Given the description of an element on the screen output the (x, y) to click on. 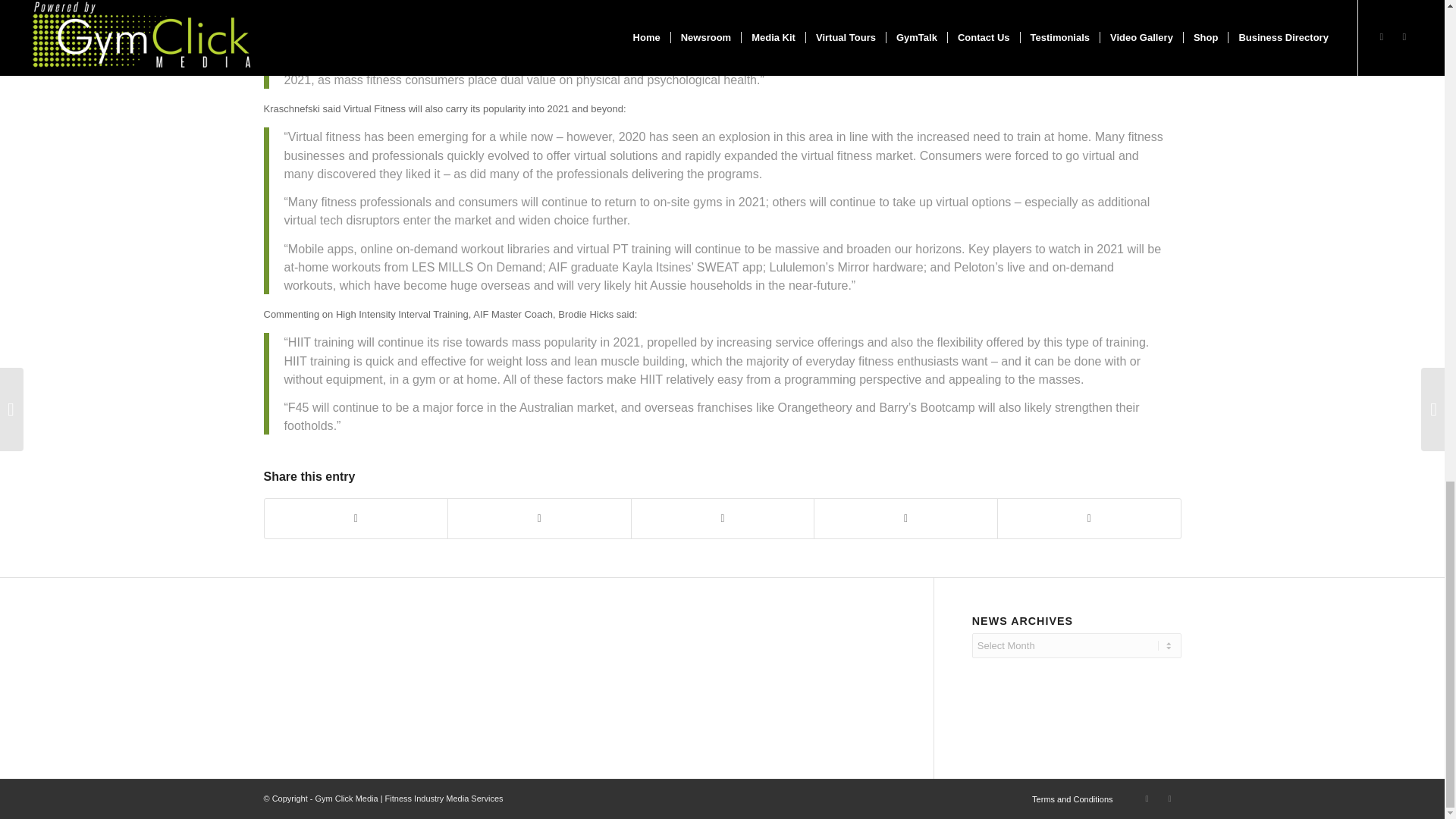
Instagram (1146, 798)
Facebook (1169, 798)
Terms and Conditions (1072, 798)
